Given the description of an element on the screen output the (x, y) to click on. 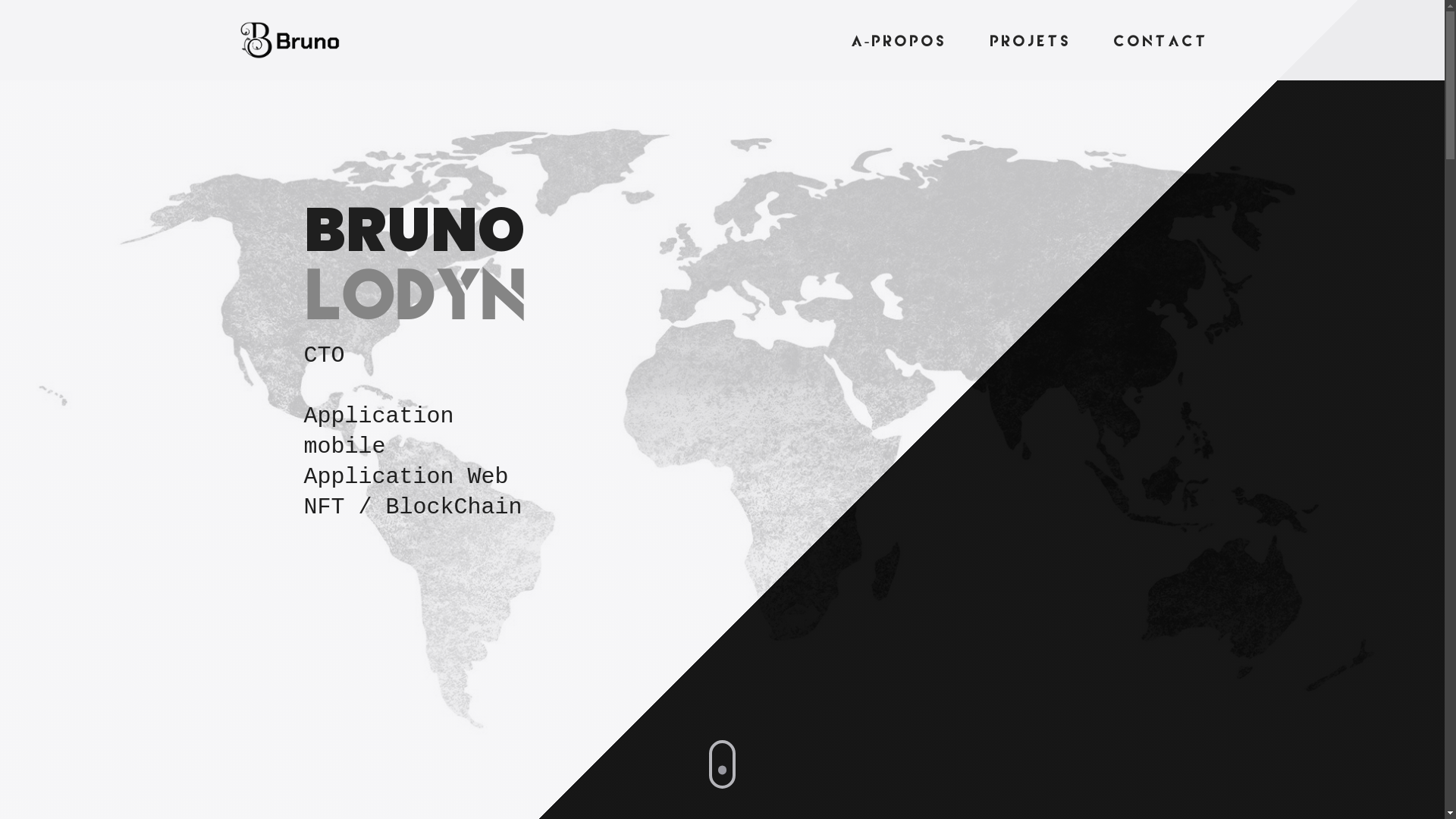
A-PROPOS Element type: text (898, 41)
PROJETS Element type: text (1029, 41)
CONTACT Element type: text (1160, 41)
